Given the description of an element on the screen output the (x, y) to click on. 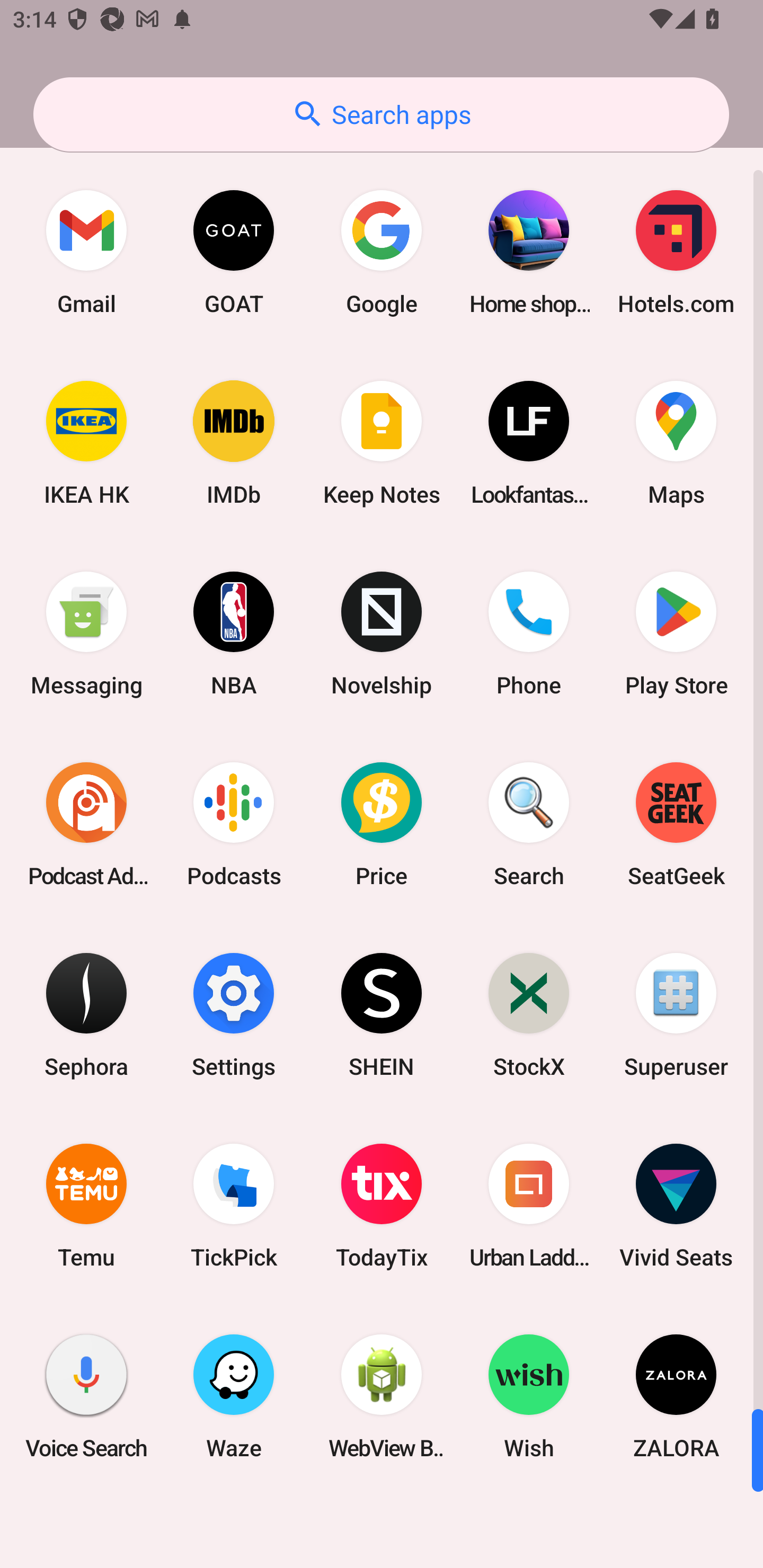
  Search apps (381, 114)
Gmail (86, 252)
GOAT (233, 252)
Google (381, 252)
Home shopping (528, 252)
Hotels.com (676, 252)
IKEA HK (86, 442)
IMDb (233, 442)
Keep Notes (381, 442)
Lookfantastic (528, 442)
Maps (676, 442)
Messaging (86, 633)
NBA (233, 633)
Novelship (381, 633)
Phone (528, 633)
Play Store (676, 633)
Podcast Addict (86, 823)
Podcasts (233, 823)
Price (381, 823)
Search (528, 823)
SeatGeek (676, 823)
Sephora (86, 1014)
Settings (233, 1014)
SHEIN (381, 1014)
StockX (528, 1014)
Superuser (676, 1014)
Temu (86, 1205)
TickPick (233, 1205)
TodayTix (381, 1205)
Urban Ladder (528, 1205)
Vivid Seats (676, 1205)
Voice Search (86, 1396)
Waze (233, 1396)
WebView Browser Tester (381, 1396)
Wish (528, 1396)
ZALORA (676, 1396)
